Given the description of an element on the screen output the (x, y) to click on. 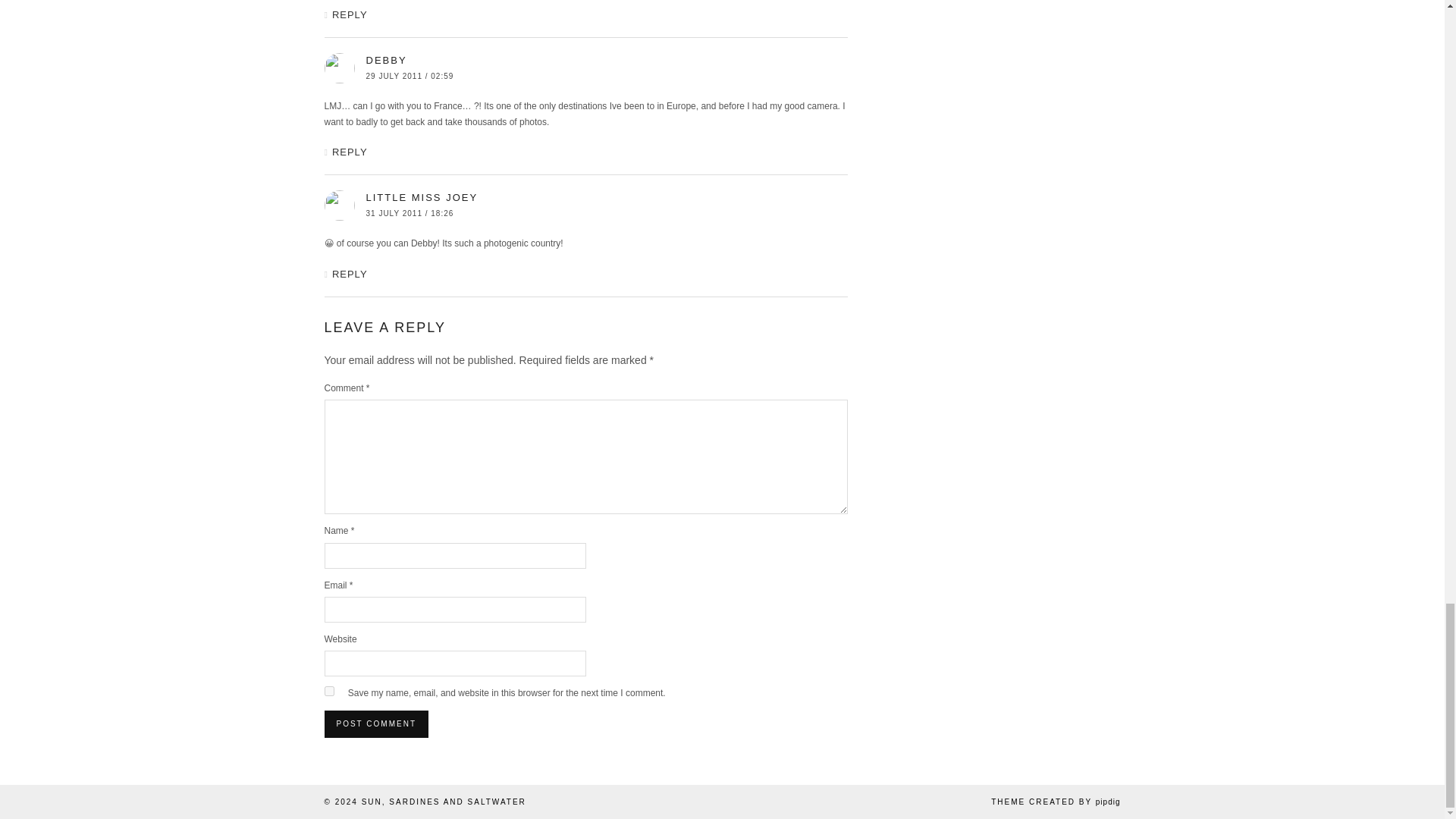
Post Comment (376, 723)
REPLY (349, 14)
REPLY (349, 274)
Post Comment (376, 723)
REPLY (349, 152)
yes (329, 691)
